Given the description of an element on the screen output the (x, y) to click on. 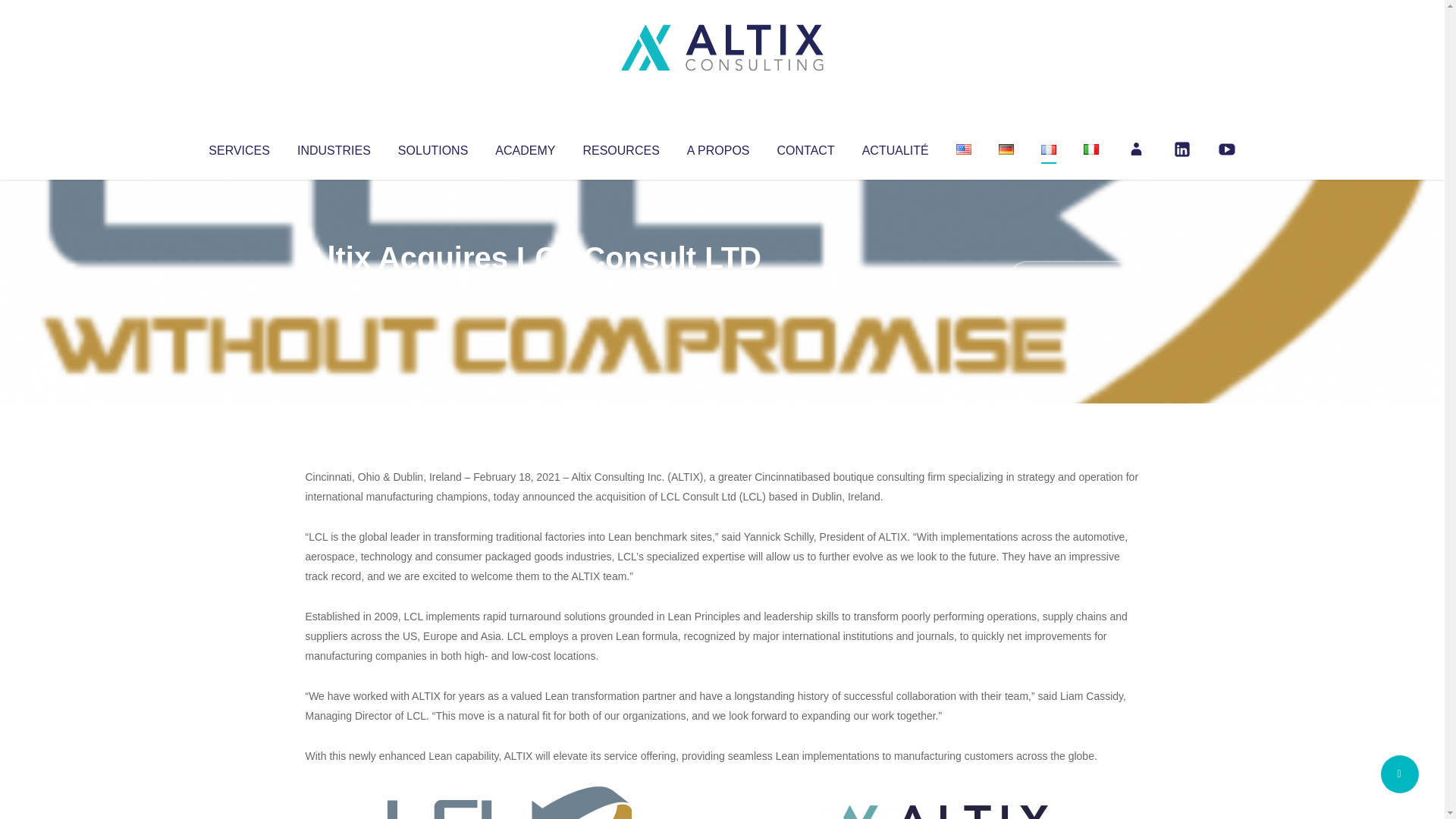
Altix (333, 287)
SERVICES (238, 146)
Uncategorized (530, 287)
A PROPOS (718, 146)
ACADEMY (524, 146)
RESOURCES (620, 146)
Articles par Altix (333, 287)
No Comments (1073, 278)
SOLUTIONS (432, 146)
INDUSTRIES (334, 146)
